Given the description of an element on the screen output the (x, y) to click on. 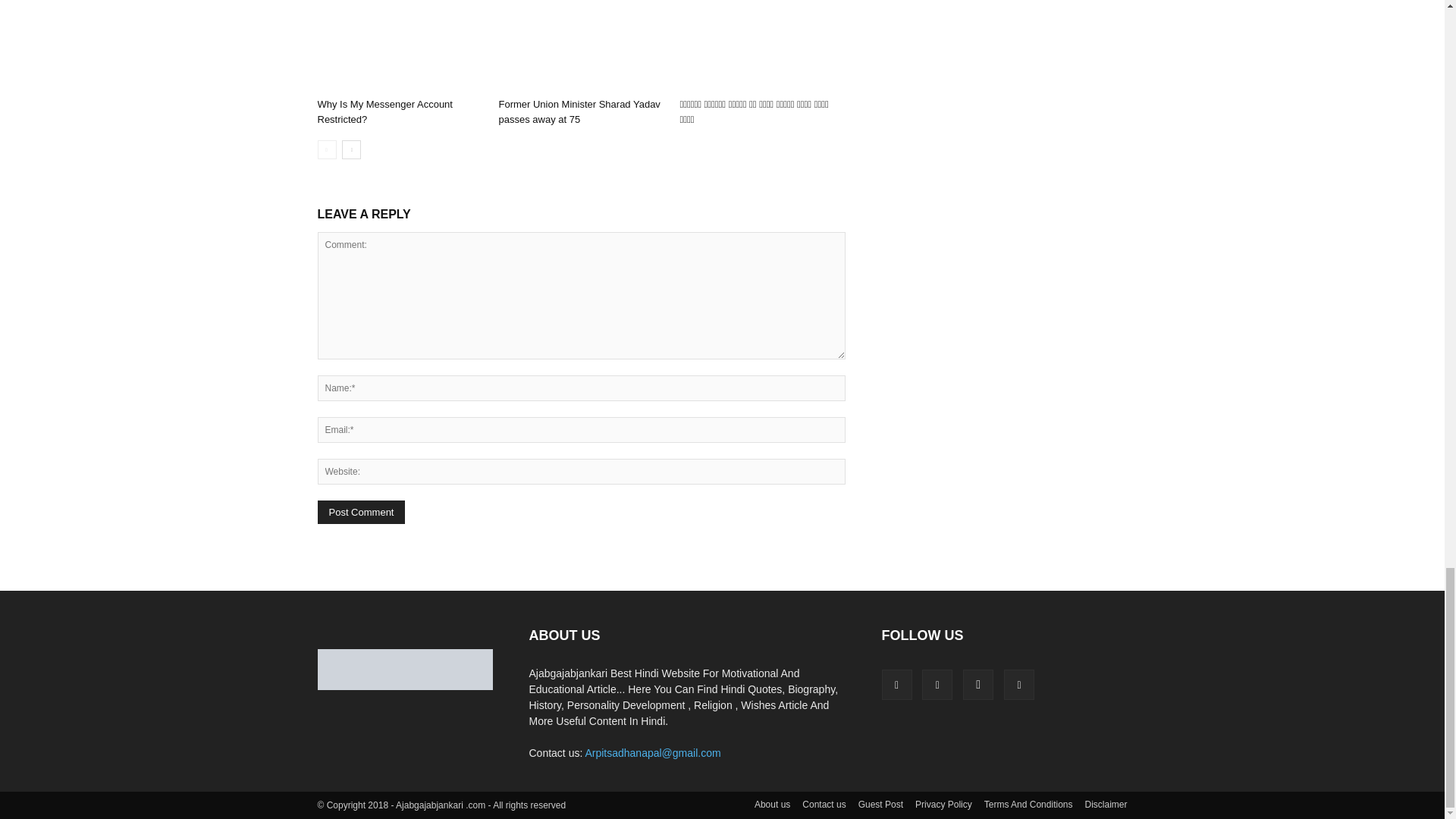
Why Is My Messenger Account Restricted? (384, 111)
Why Is My Messenger Account Restricted? (399, 45)
Post Comment (360, 512)
